Given the description of an element on the screen output the (x, y) to click on. 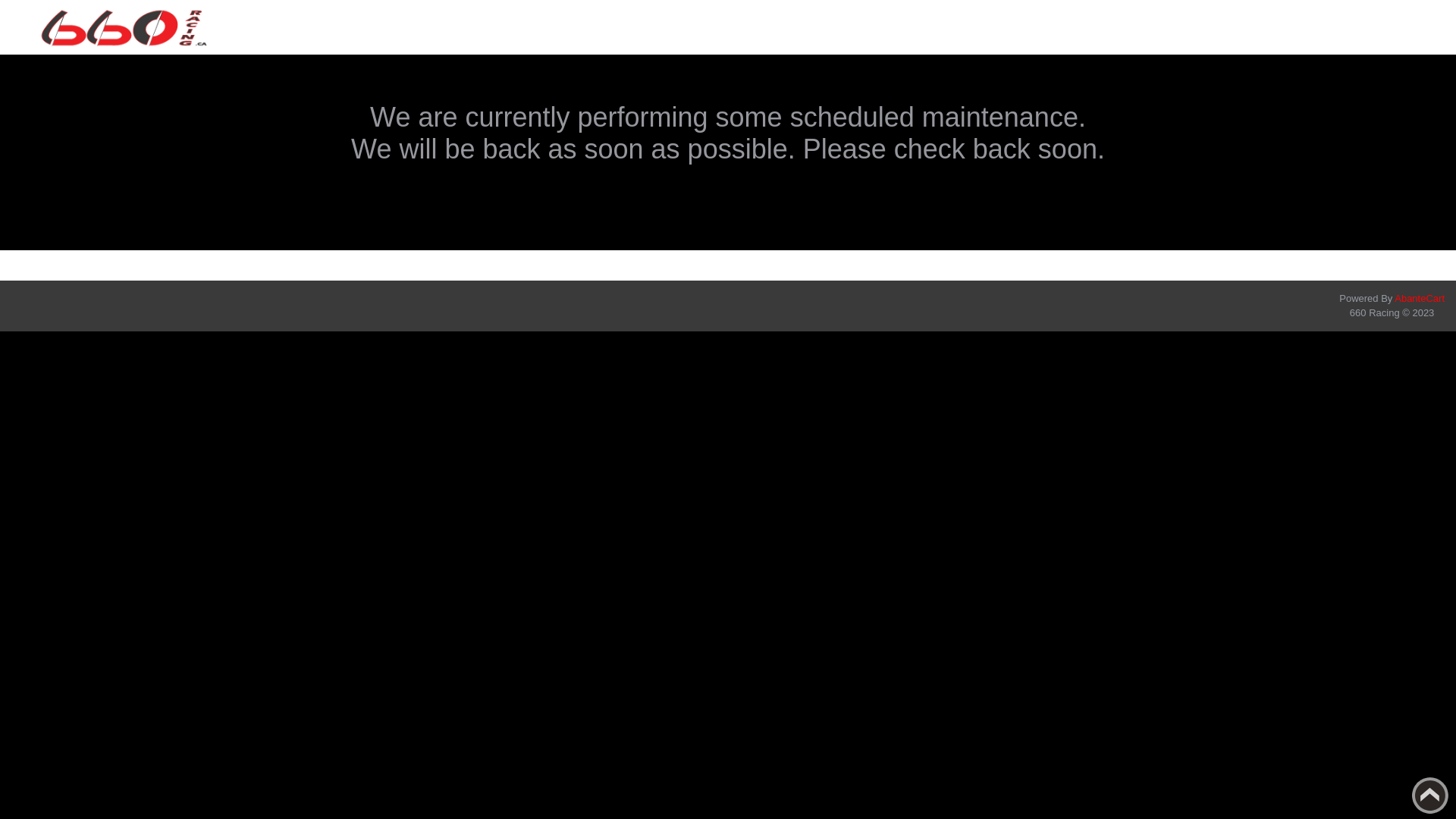
Back to top Element type: text (1430, 795)
660 Racing Element type: hover (124, 27)
AbanteCart Element type: text (1419, 298)
